Given the description of an element on the screen output the (x, y) to click on. 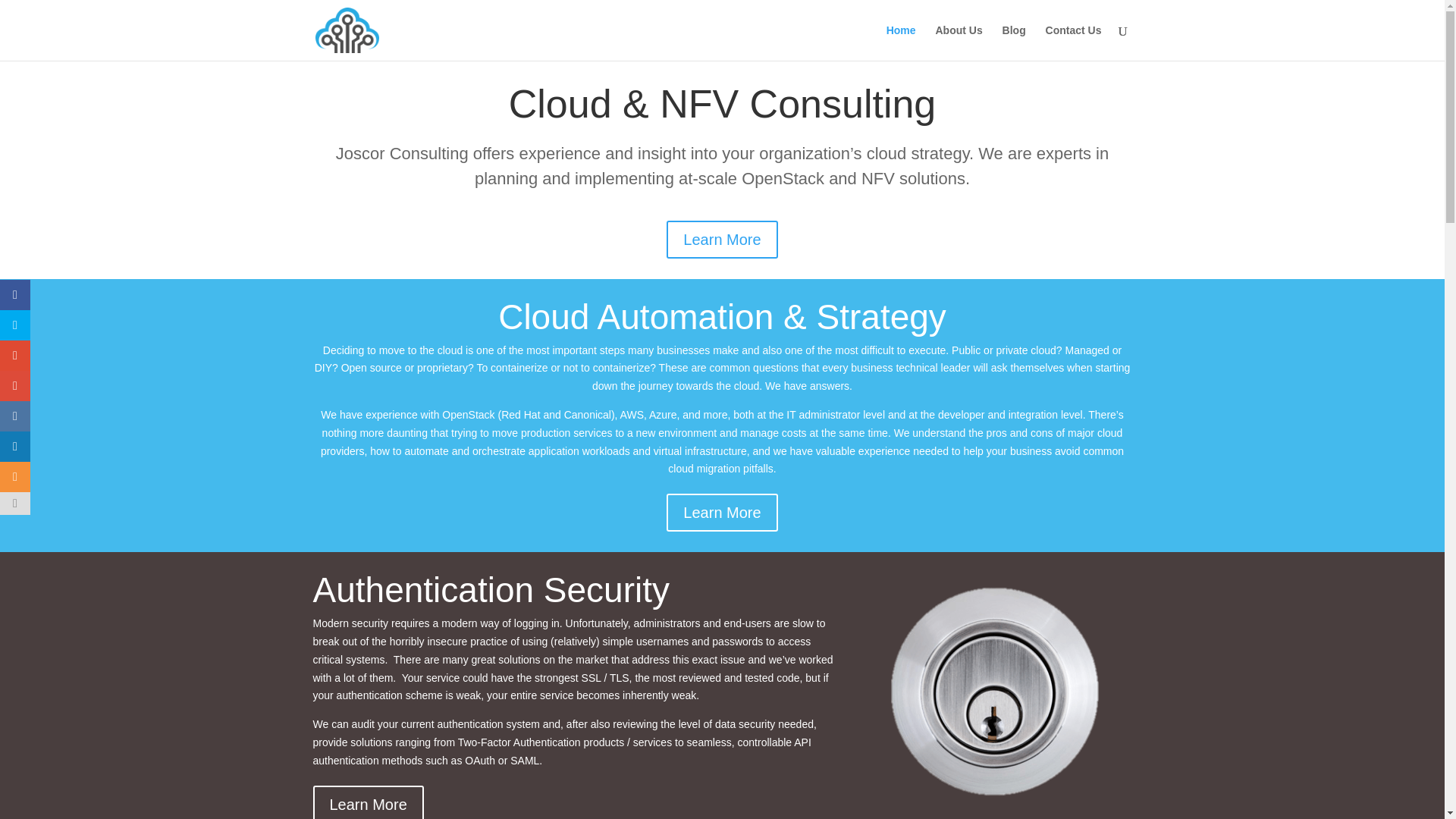
Learn More (368, 802)
Learn More (721, 512)
Contact Us (1073, 42)
About Us (957, 42)
Learn More (721, 239)
